Given the description of an element on the screen output the (x, y) to click on. 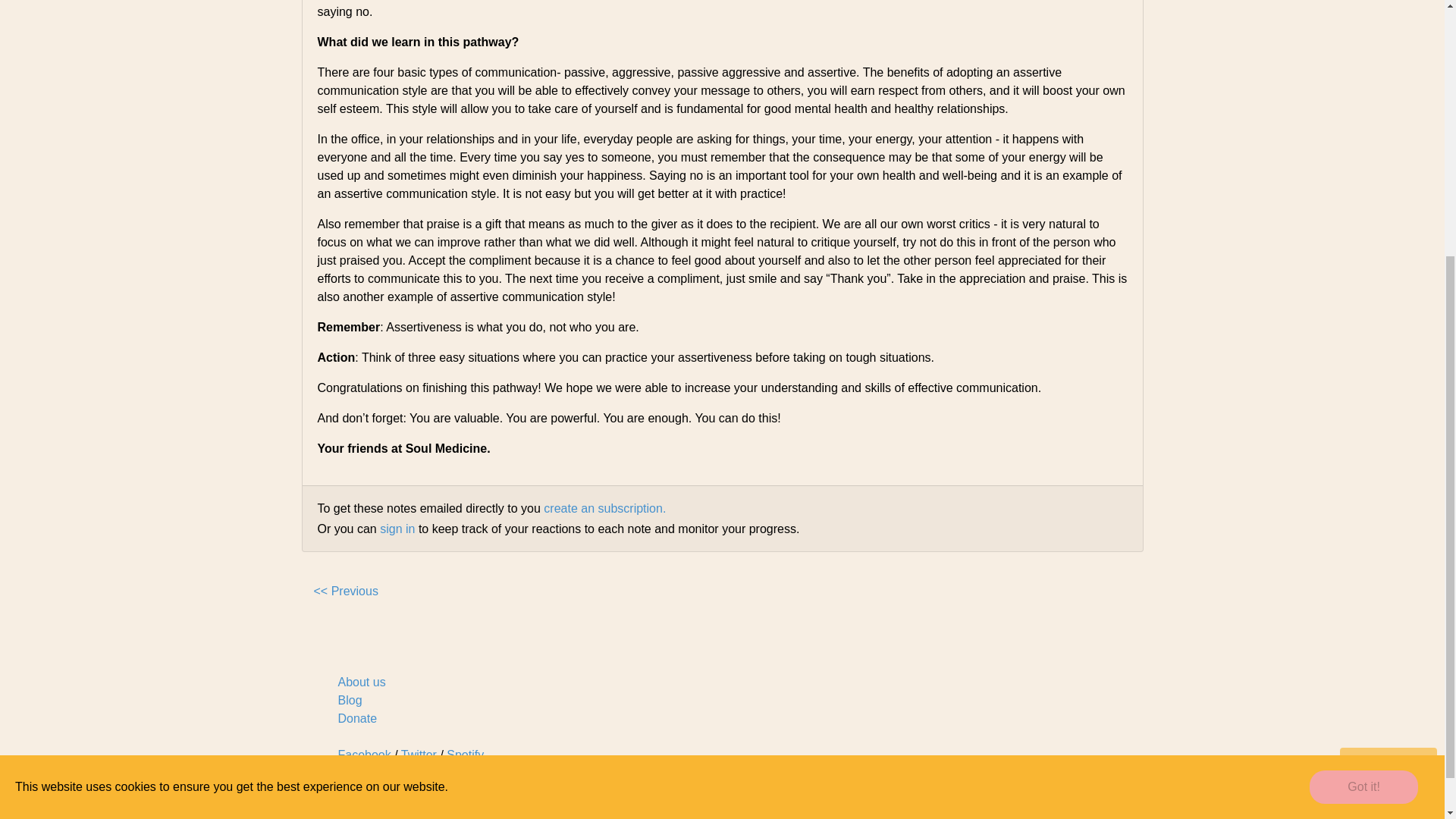
Got it! (1363, 400)
Privacy Policy (717, 809)
create an subscription. (604, 508)
Spotify (464, 754)
sign in (397, 528)
LEAVE THIS SITE (1388, 374)
Donate (357, 717)
About us (361, 681)
Twitter (418, 754)
Blog (349, 699)
